Given the description of an element on the screen output the (x, y) to click on. 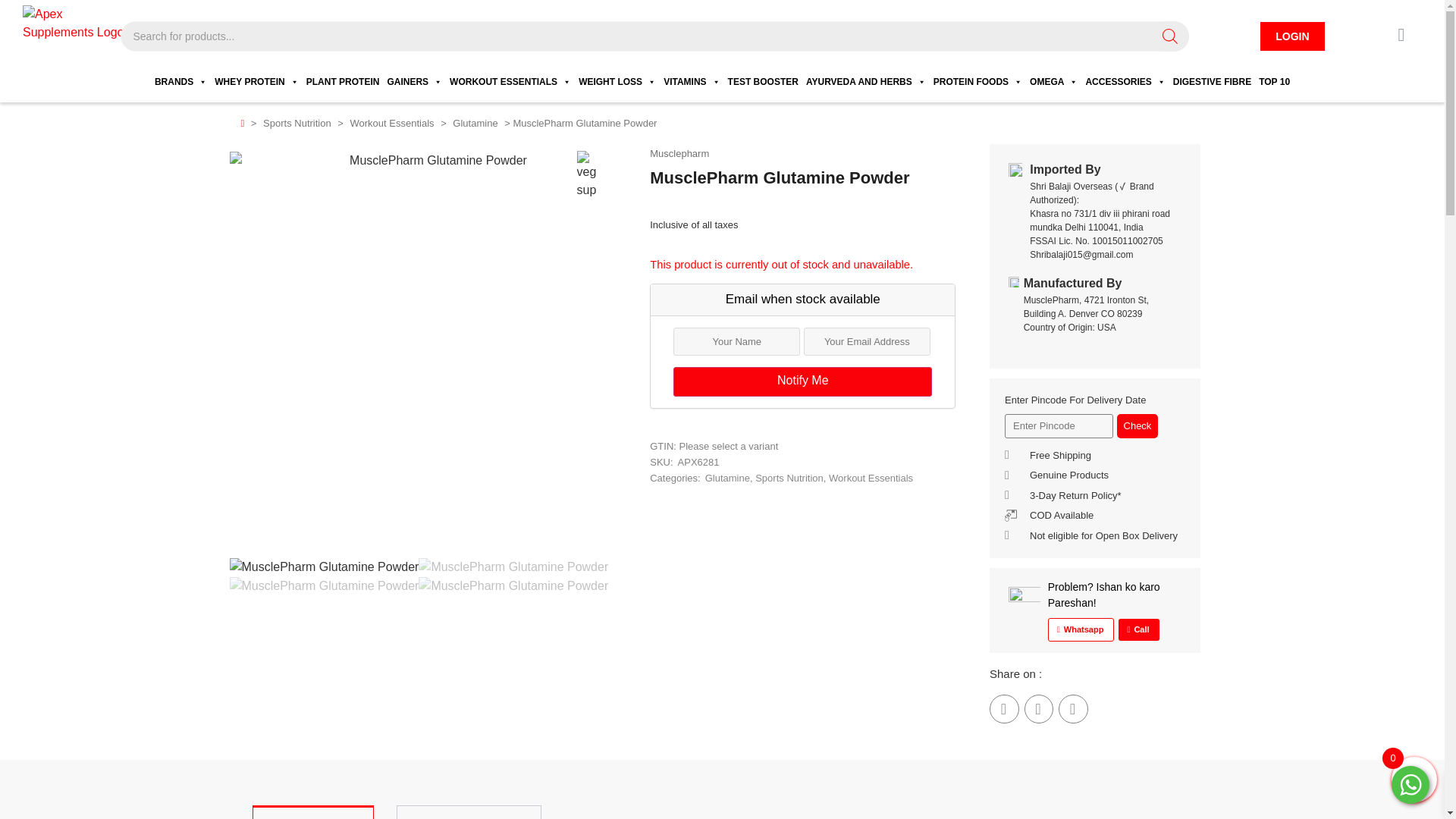
MusclePharm Glutamine Powder (323, 566)
MusclePharm Glutamine Powder (323, 586)
Notify Me (801, 381)
MusclePharm Glutamine Powder (513, 566)
